Given the description of an element on the screen output the (x, y) to click on. 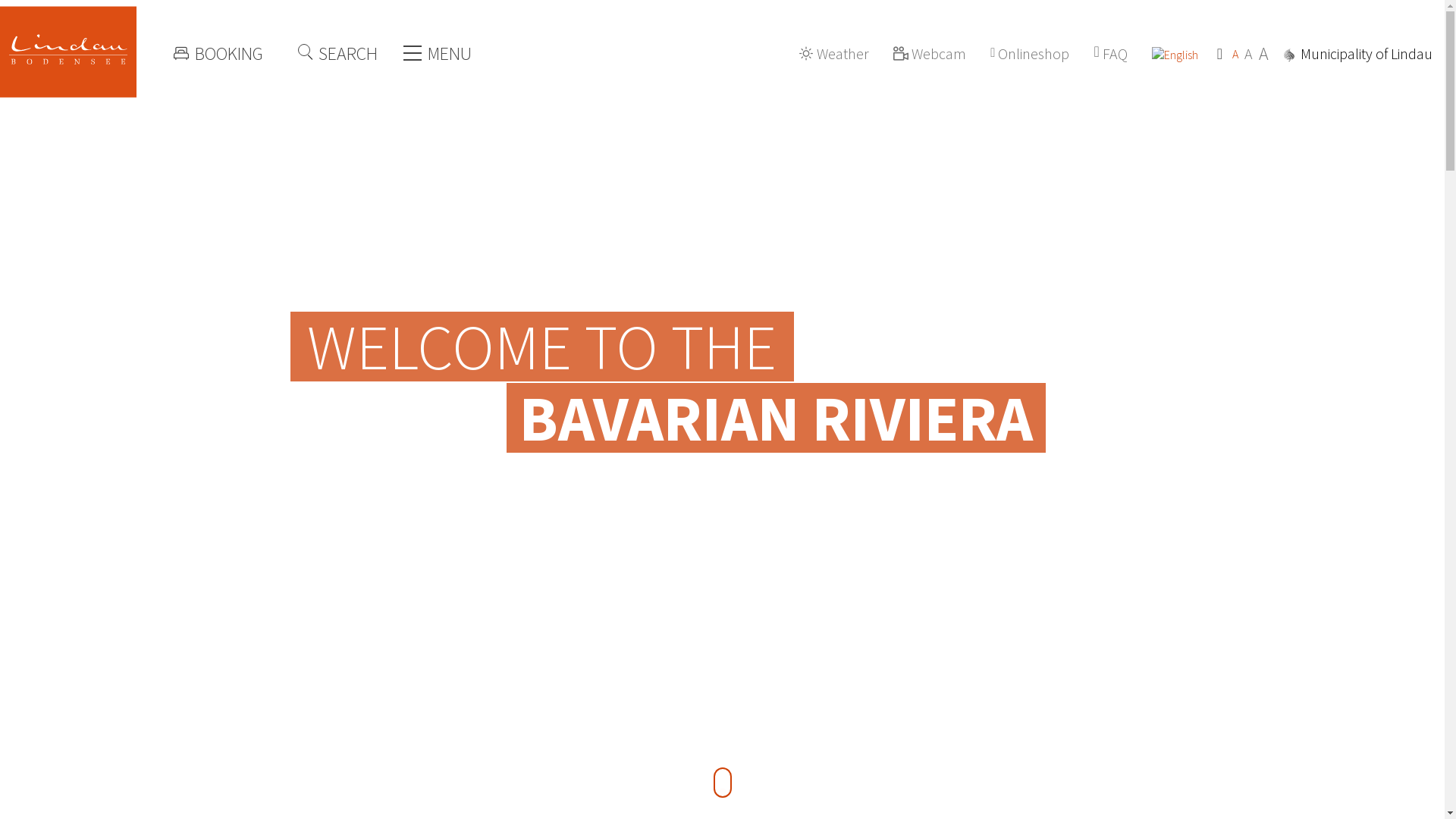
BOOKING (227, 53)
SEARCH (336, 53)
Buchen (227, 53)
Search (336, 53)
